Given the description of an element on the screen output the (x, y) to click on. 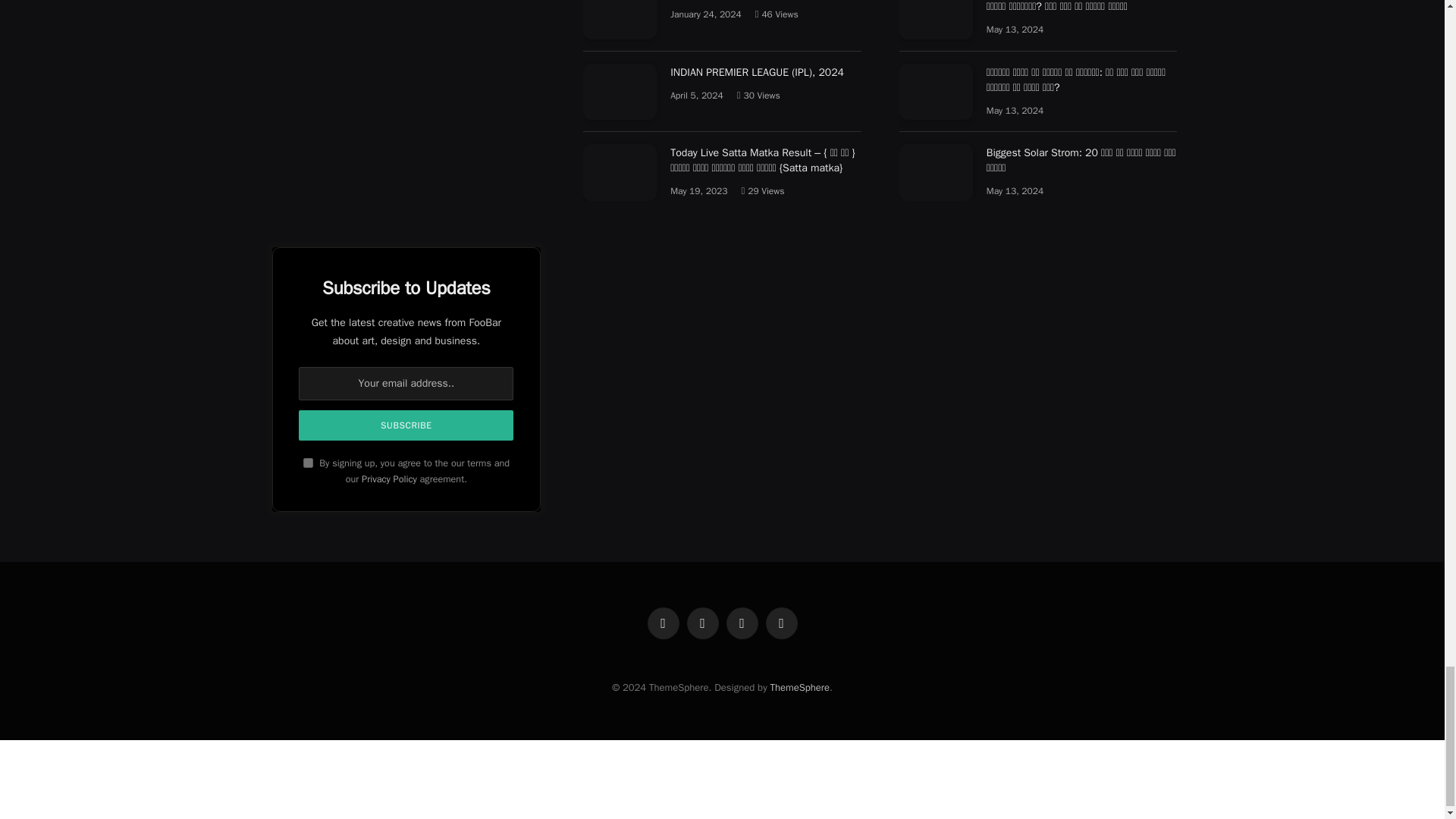
on (307, 462)
Subscribe (405, 425)
